Given the description of an element on the screen output the (x, y) to click on. 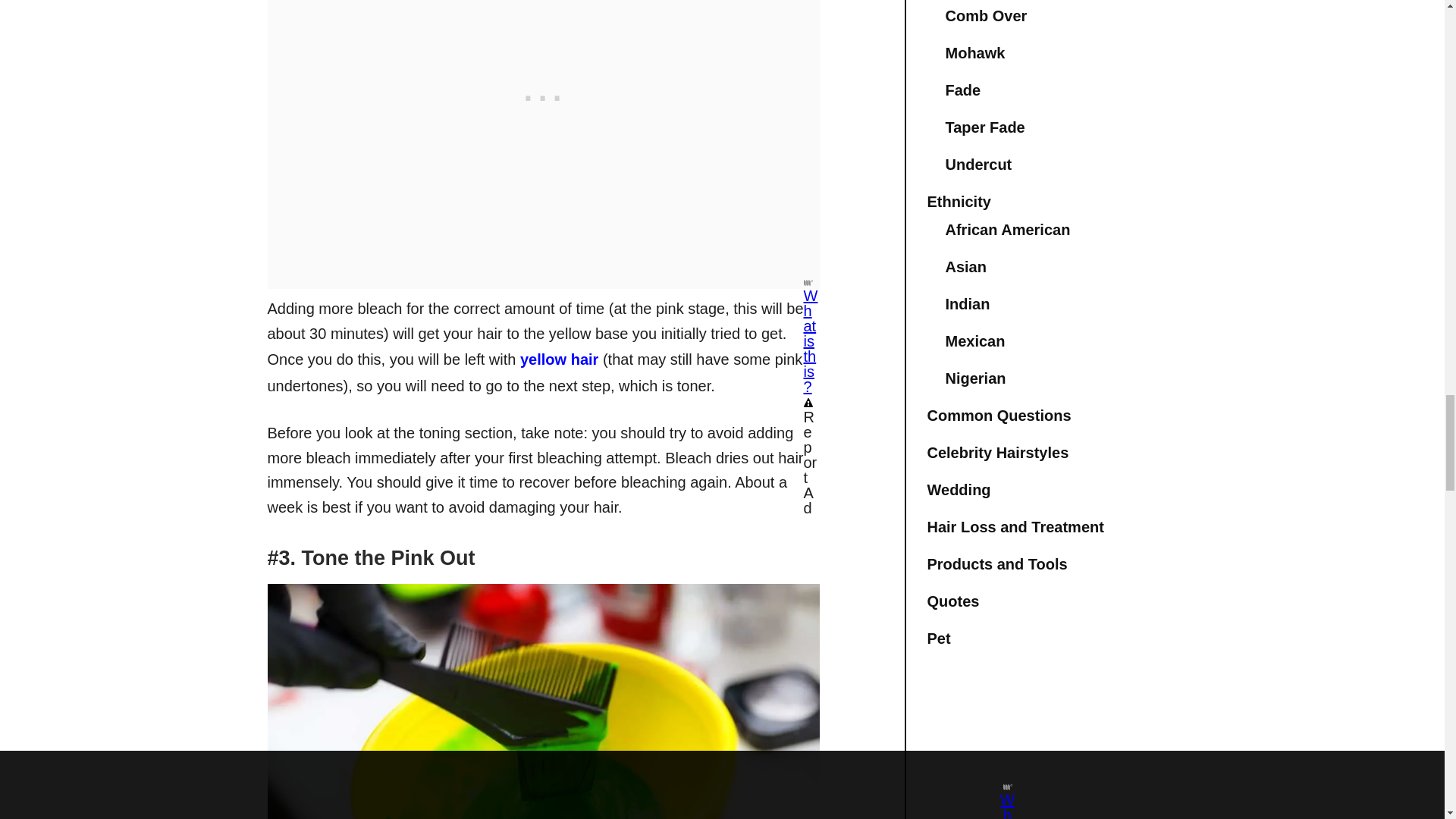
3rd party ad content (542, 72)
